Given the description of an element on the screen output the (x, y) to click on. 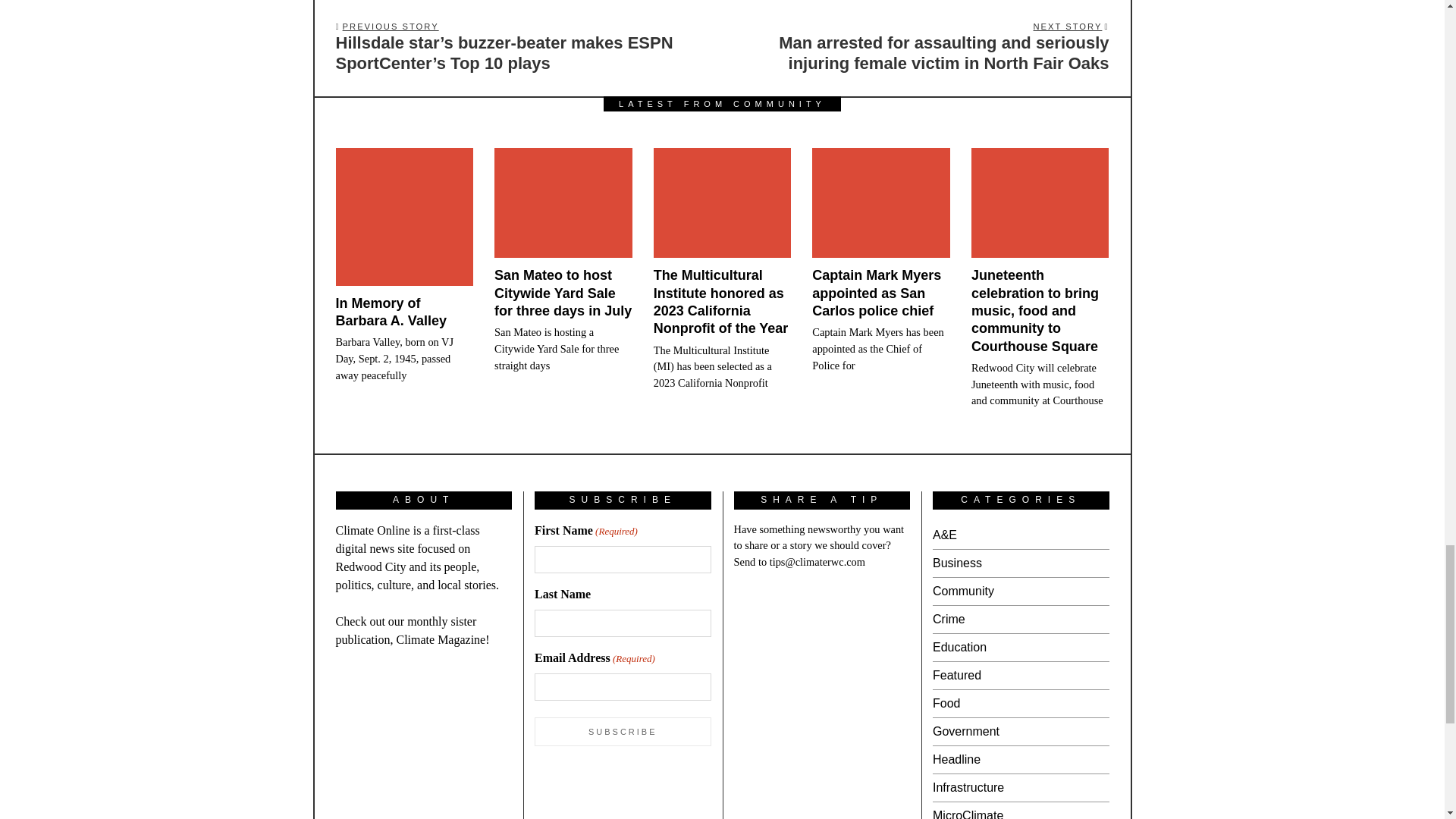
Subscribe (622, 731)
